Given the description of an element on the screen output the (x, y) to click on. 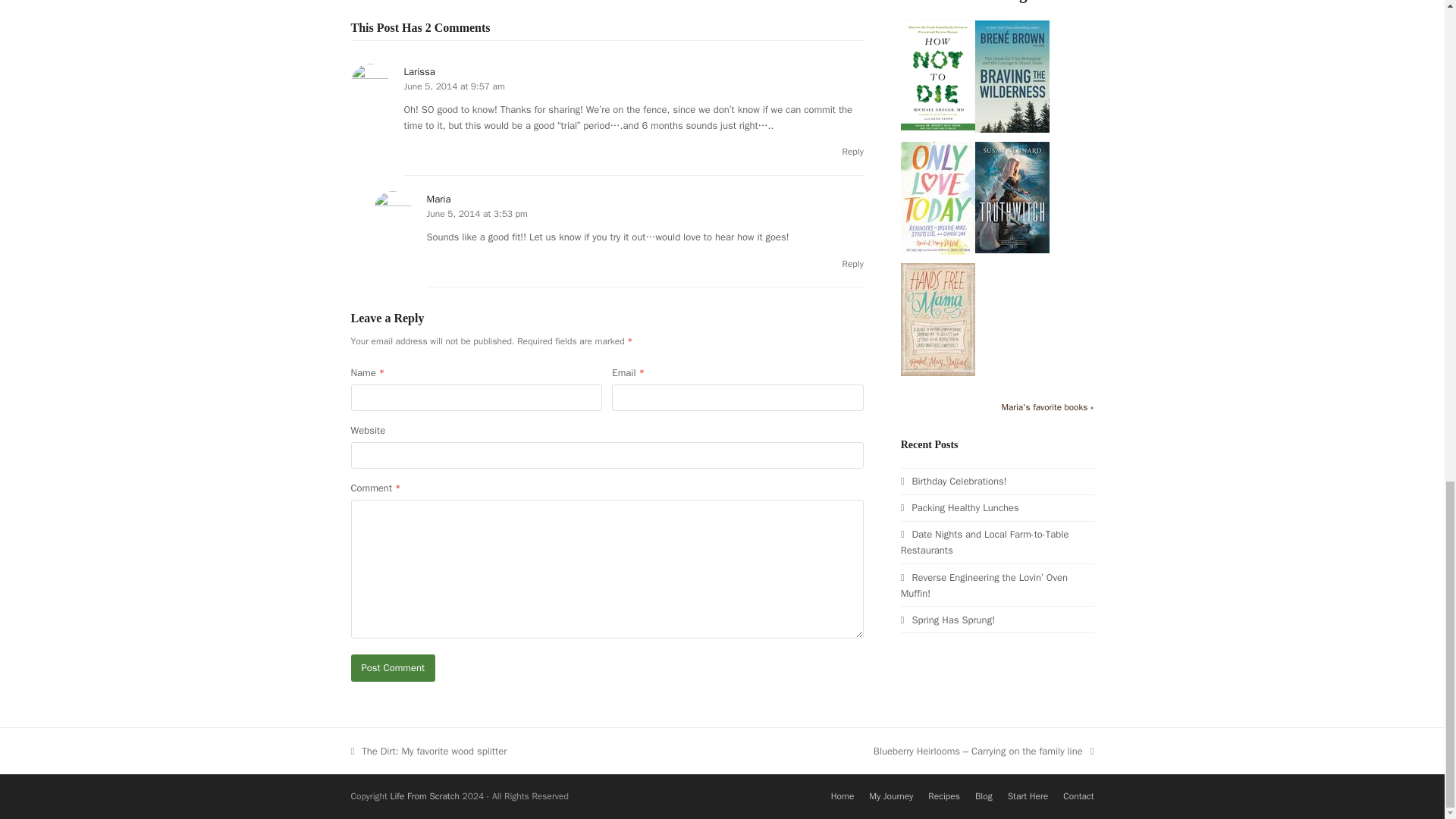
Reply (852, 263)
June 5, 2014 at 9:57 am (453, 86)
Post Comment (392, 667)
June 5, 2014 at 3:53 pm (476, 214)
Post Comment (392, 667)
Reply (852, 151)
